Given the description of an element on the screen output the (x, y) to click on. 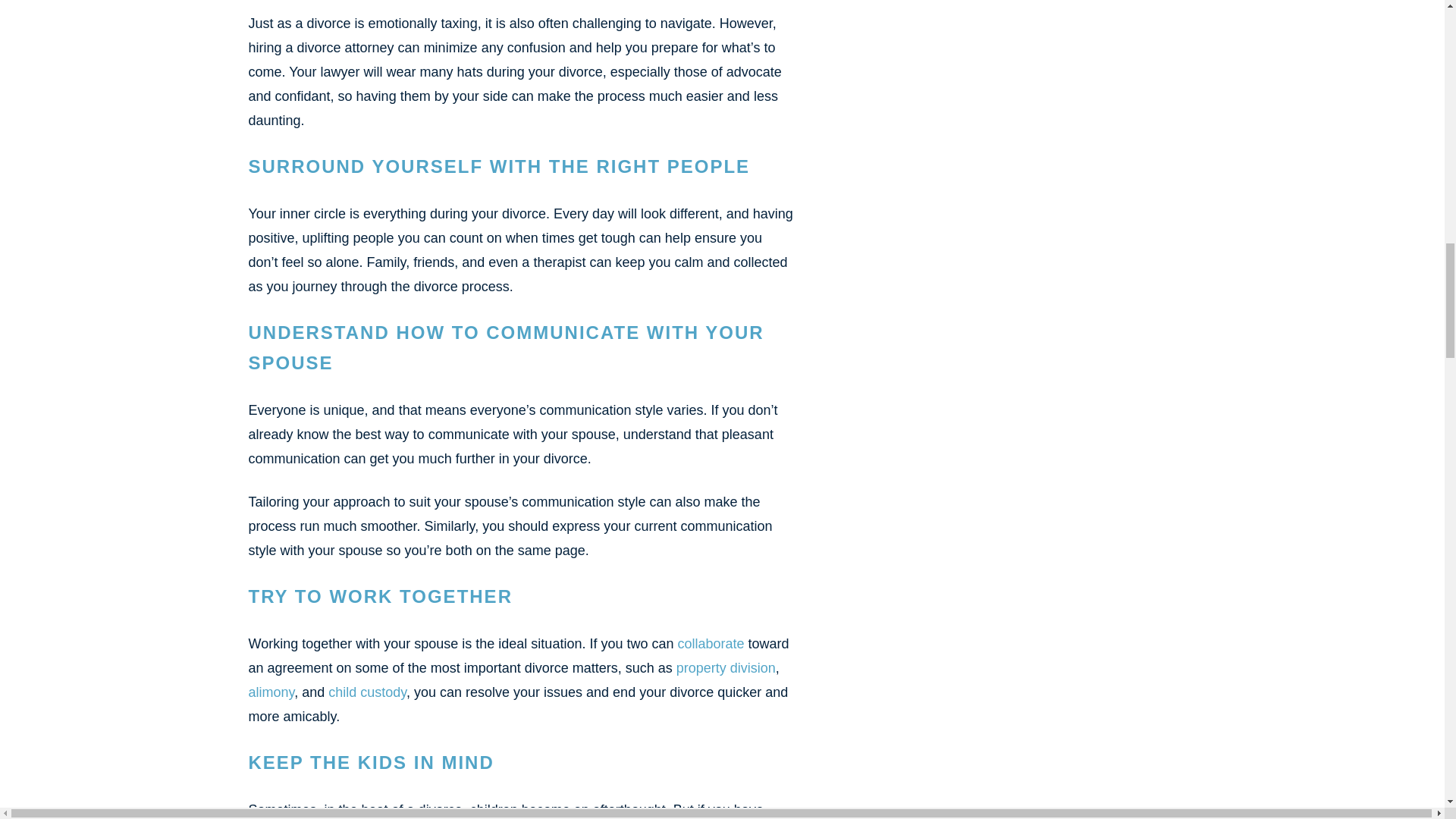
child custody (367, 692)
collaborate (710, 643)
property division (726, 667)
alimony (271, 692)
